Given the description of an element on the screen output the (x, y) to click on. 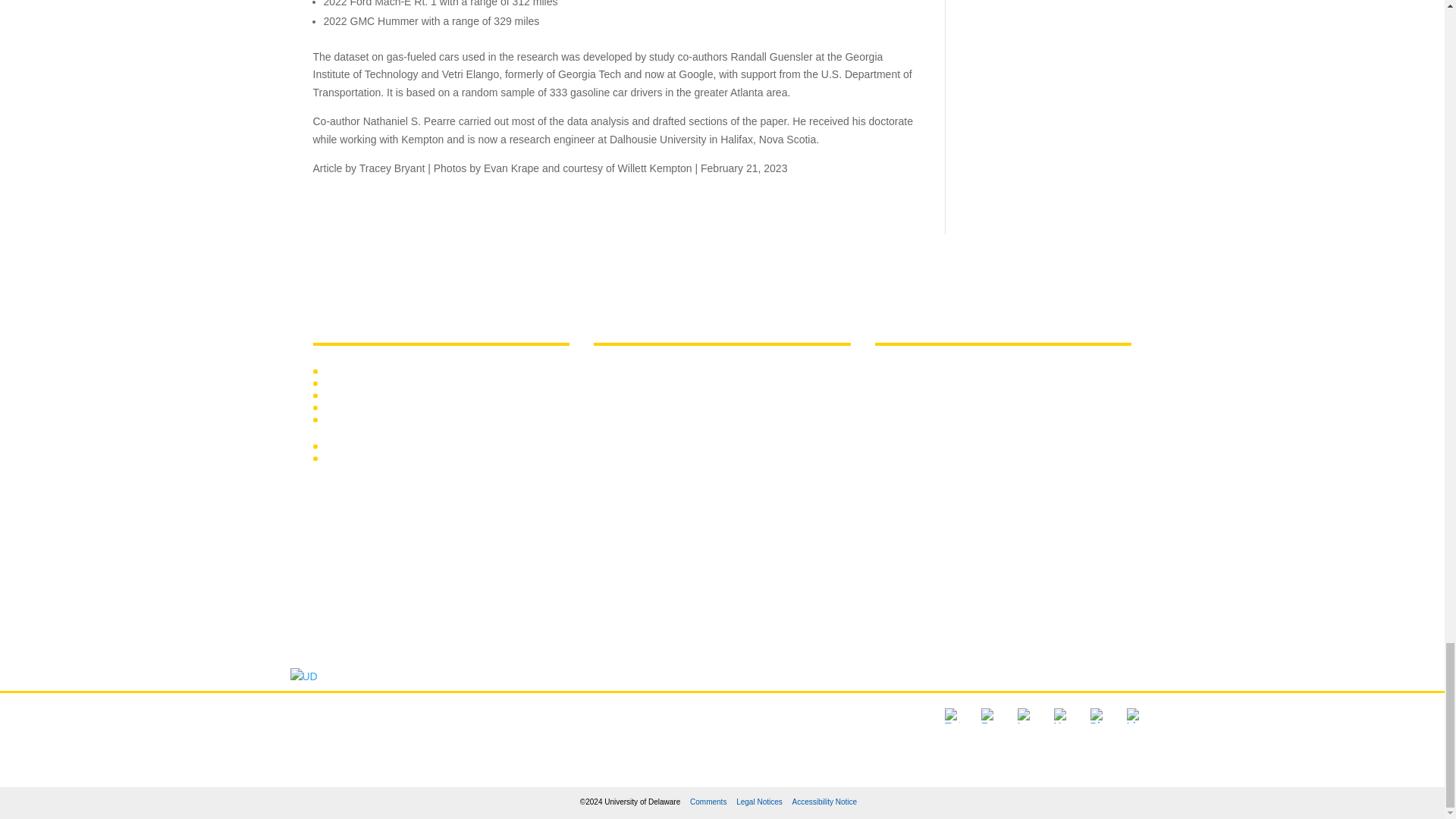
Pinterest (1097, 715)
Linkedin (1133, 715)
Facebook (989, 715)
Twitter (951, 715)
Instagram (1025, 715)
Youtube (1061, 715)
Facebook (988, 715)
Twitter (952, 715)
Pinterest (1098, 715)
Instagram (1024, 715)
